Given the description of an element on the screen output the (x, y) to click on. 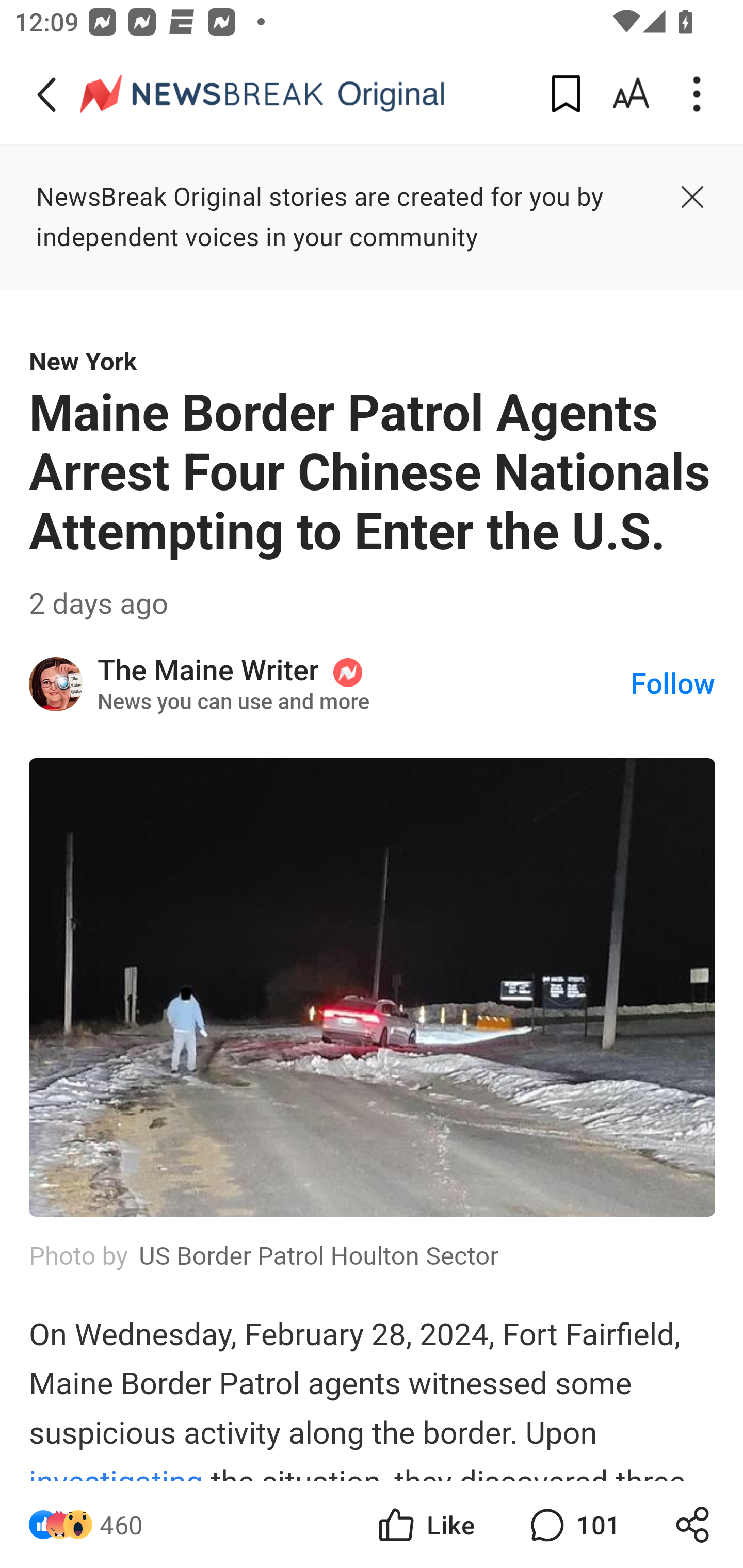
The Maine Writer  News you can use and more (364, 683)
The (56, 683)
Follow (673, 684)
460 (121, 1524)
Like (425, 1524)
101 (572, 1524)
